Given the description of an element on the screen output the (x, y) to click on. 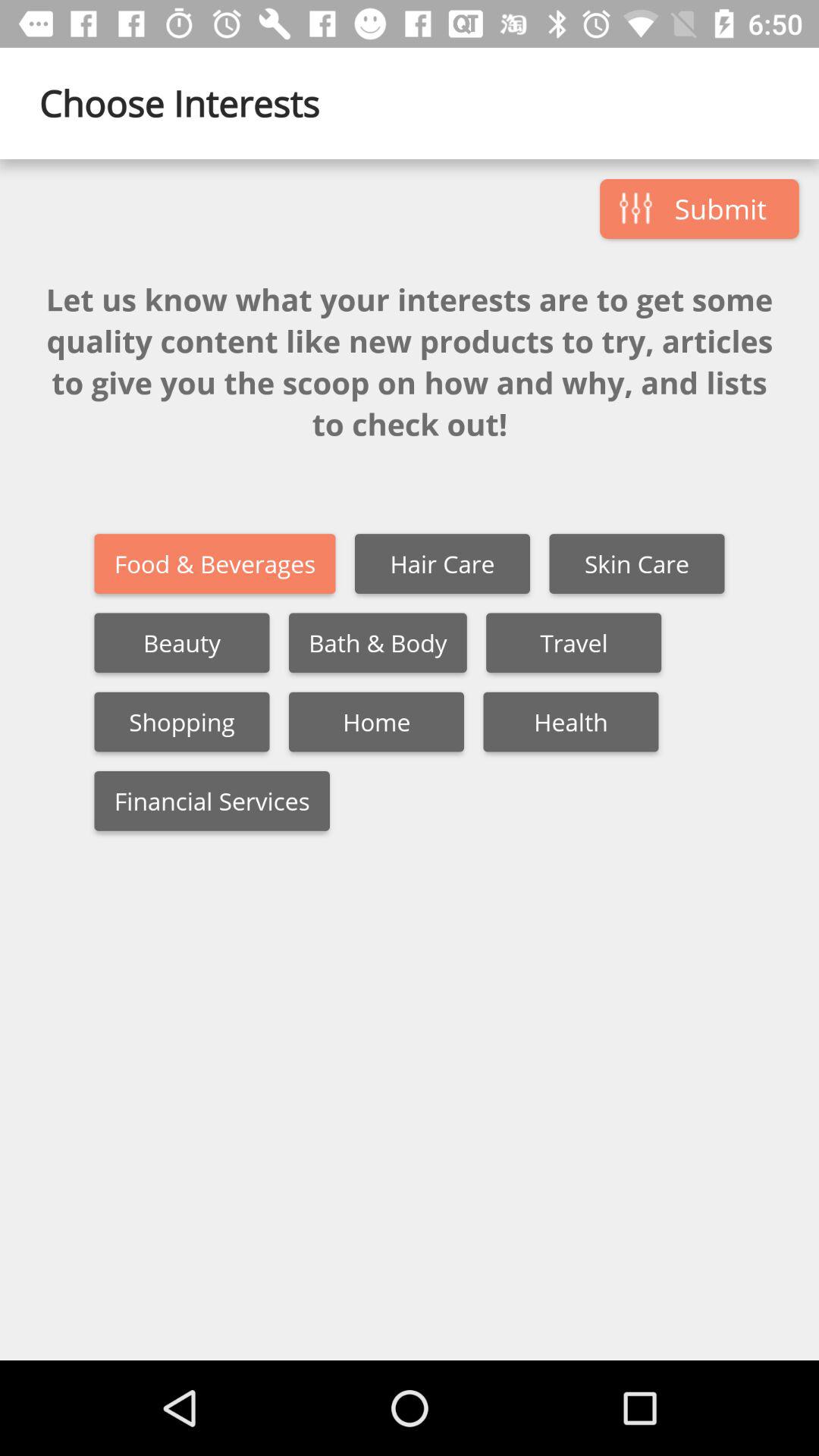
open item above the home icon (377, 642)
